Given the description of an element on the screen output the (x, y) to click on. 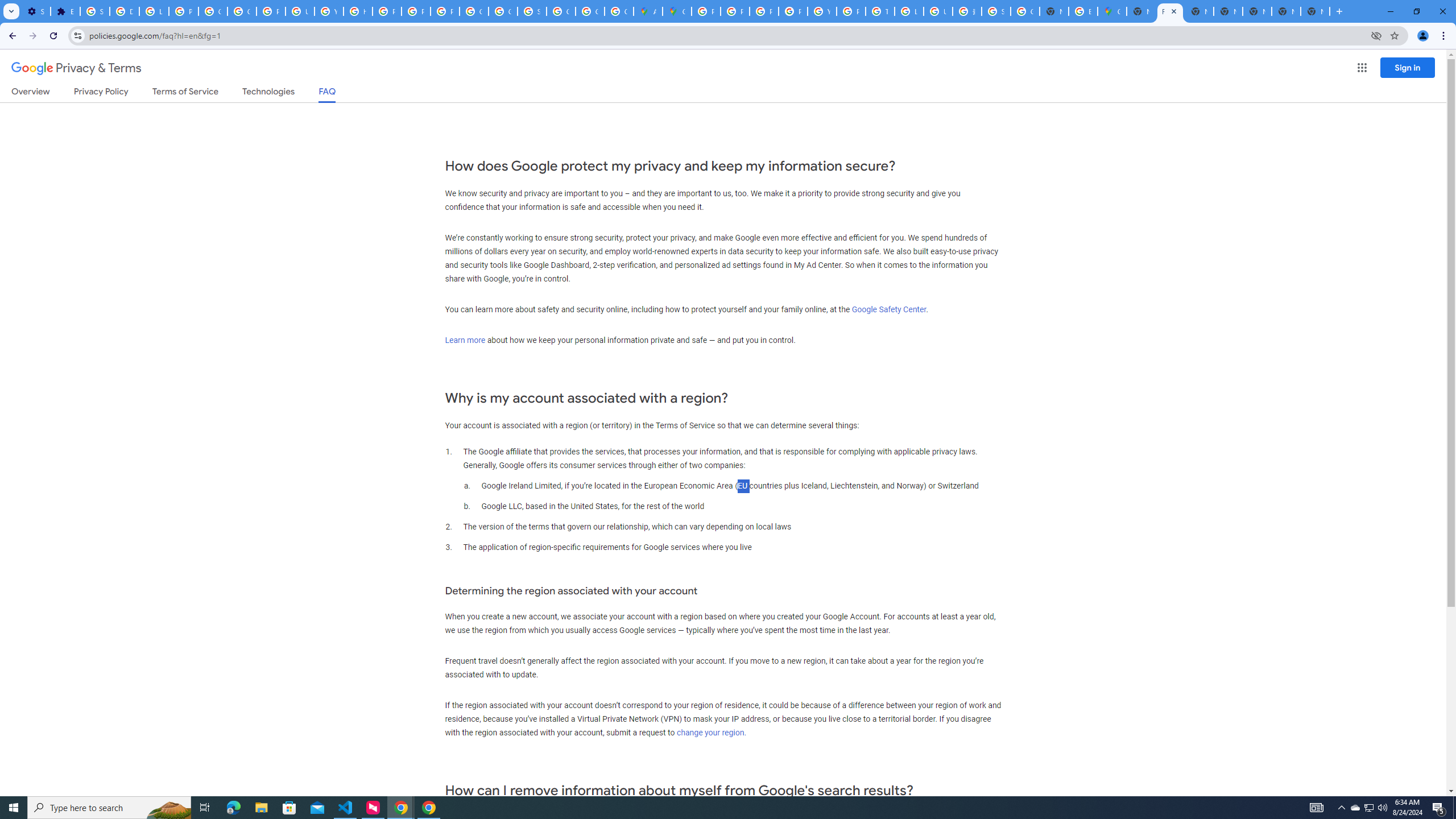
Privacy Help Center - Policies Help (386, 11)
Delete photos & videos - Computer - Google Photos Help (124, 11)
New Tab (1140, 11)
Policy Accountability and Transparency - Transparency Center (705, 11)
Sign in - Google Accounts (996, 11)
Google Account Help (212, 11)
